Given the description of an element on the screen output the (x, y) to click on. 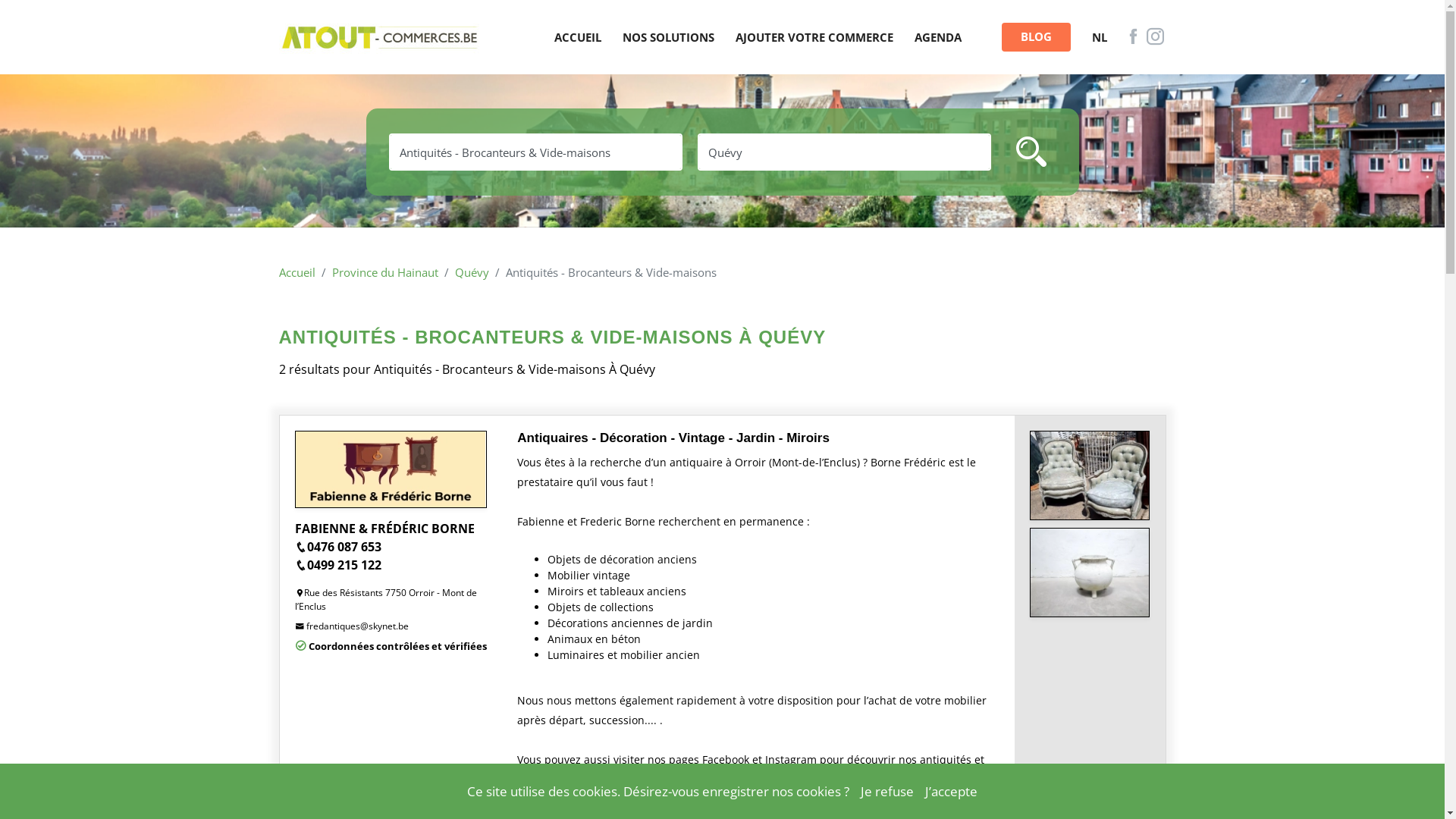
0476 087 653 Element type: text (337, 546)
AGENDA Element type: text (937, 37)
ACCUEIL Element type: text (576, 37)
NL Element type: text (1099, 37)
Accueil Element type: text (297, 271)
Province du Hainaut Element type: text (385, 271)
AJOUTER VOTRE COMMERCE Element type: text (814, 37)
BLOG Element type: text (1035, 36)
Je refuse Element type: text (886, 791)
0499 215 122 Element type: text (337, 564)
NOS SOLUTIONS Element type: text (667, 37)
